Given the description of an element on the screen output the (x, y) to click on. 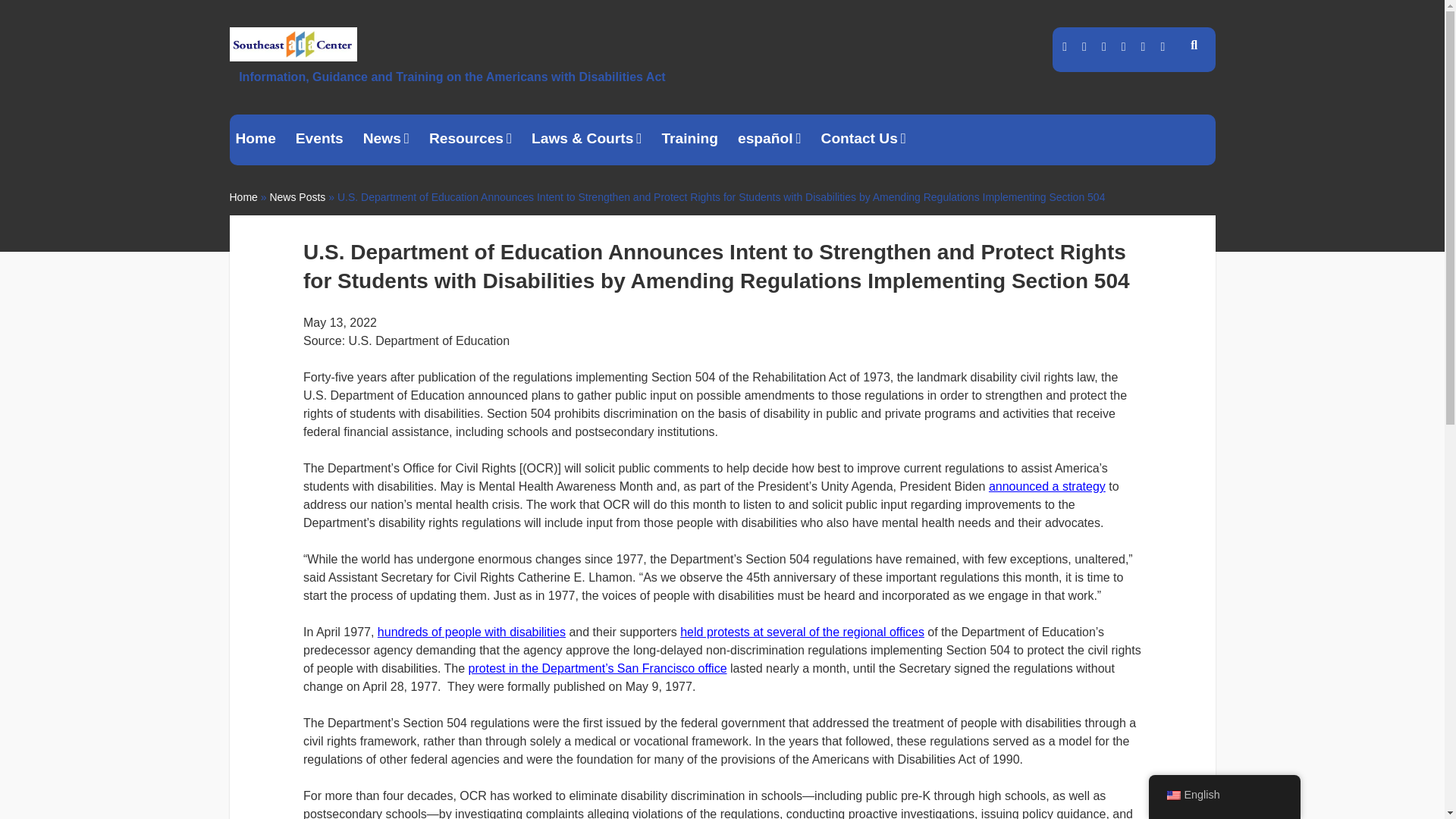
News (385, 139)
Home (254, 139)
Resources (470, 139)
Training (689, 139)
News Posts (296, 196)
Contact Us (863, 139)
Southeast ADA Center (292, 55)
Home (242, 196)
Events (319, 139)
announced a strategy (1046, 486)
English (1172, 795)
